Given the description of an element on the screen output the (x, y) to click on. 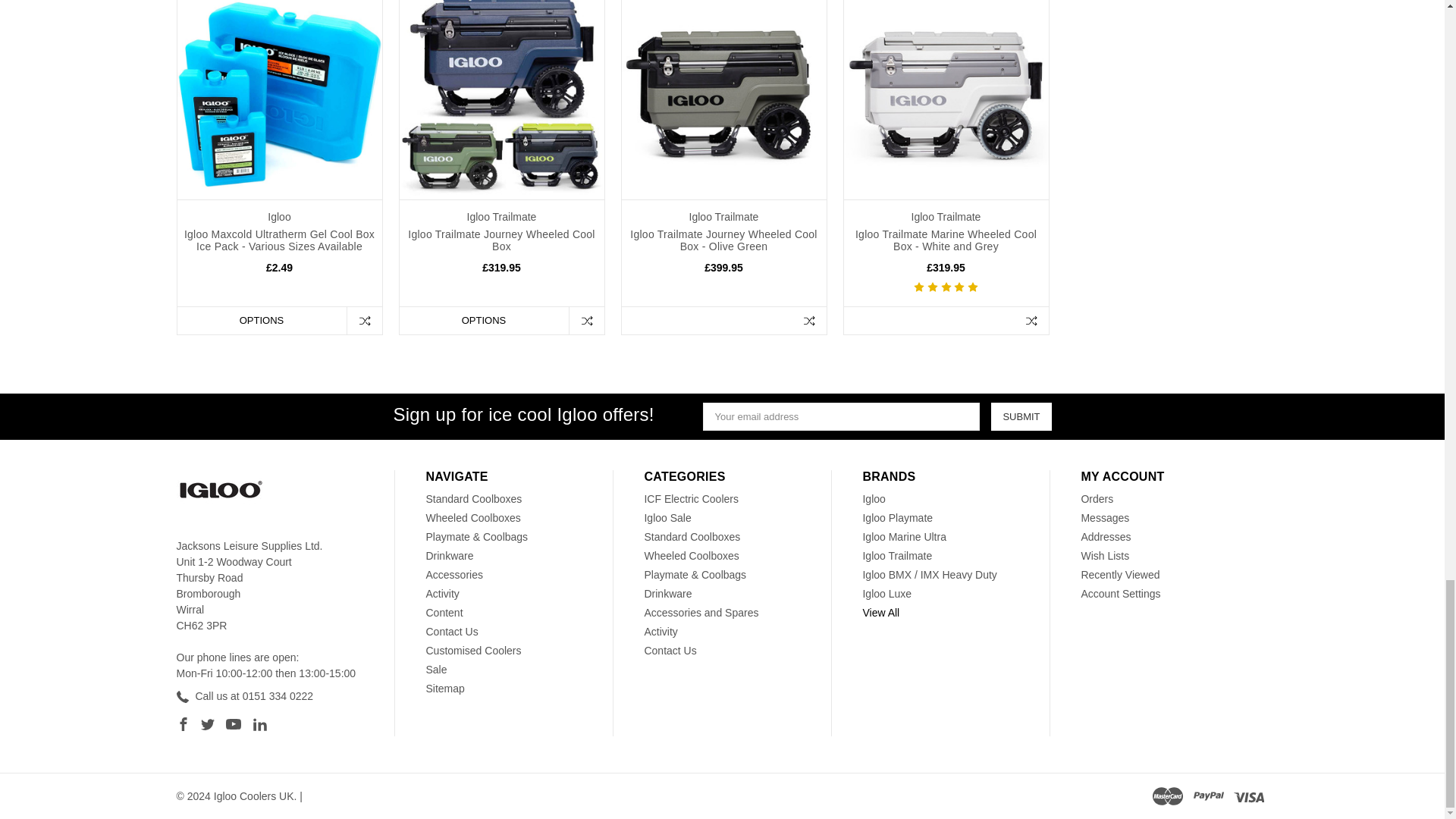
. (219, 492)
Submit (1021, 416)
Igloo Trailmate Journey Wheeled Cool Box - Olive Green (724, 99)
Size comparison of the 4 different Igloo ice block sizes (279, 99)
Igloo Trailmate Marine Wheeled Cool Box - White and Grey (945, 99)
